Given the description of an element on the screen output the (x, y) to click on. 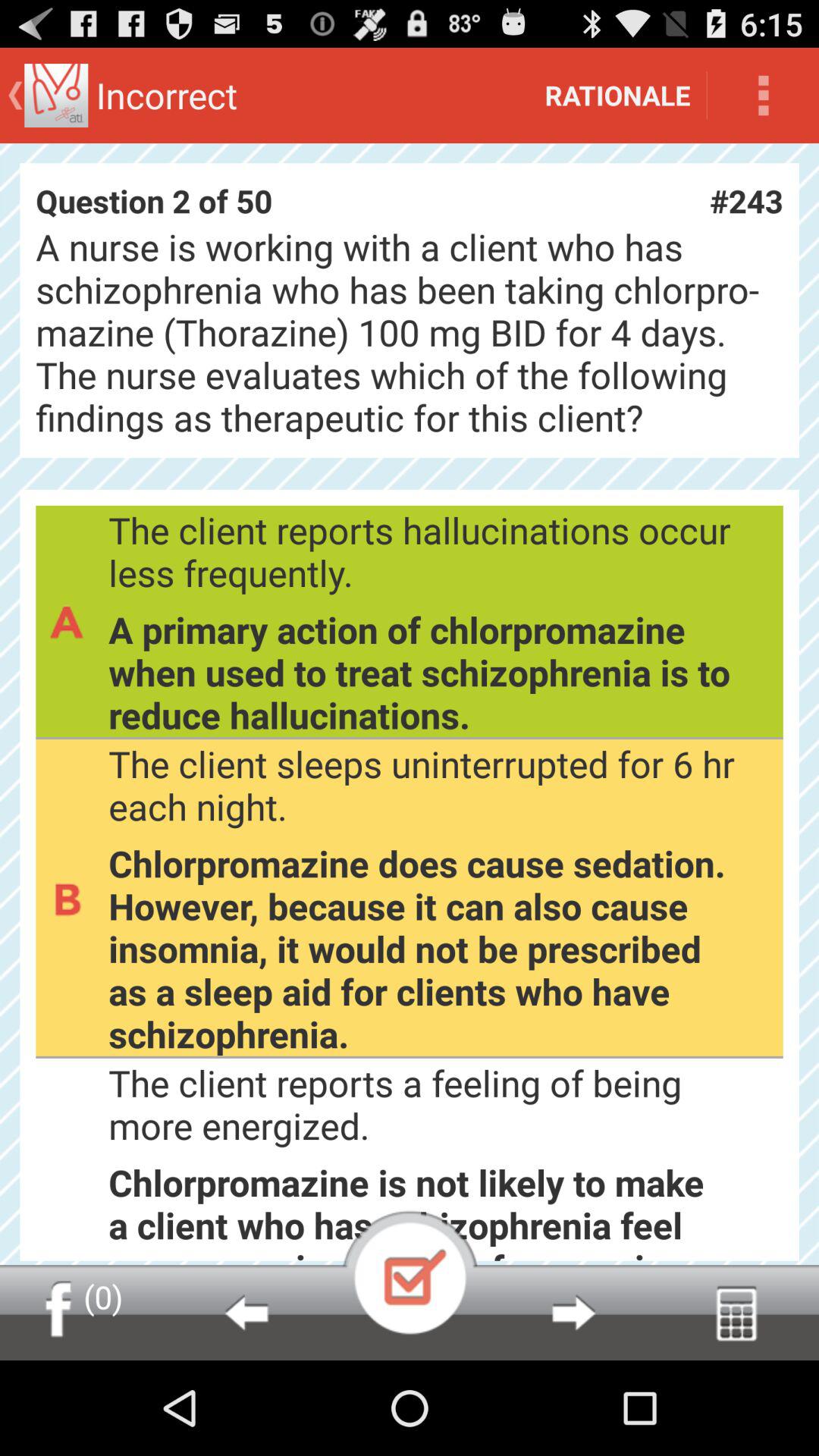
launch icon below chlorpromazine is not (573, 1312)
